Given the description of an element on the screen output the (x, y) to click on. 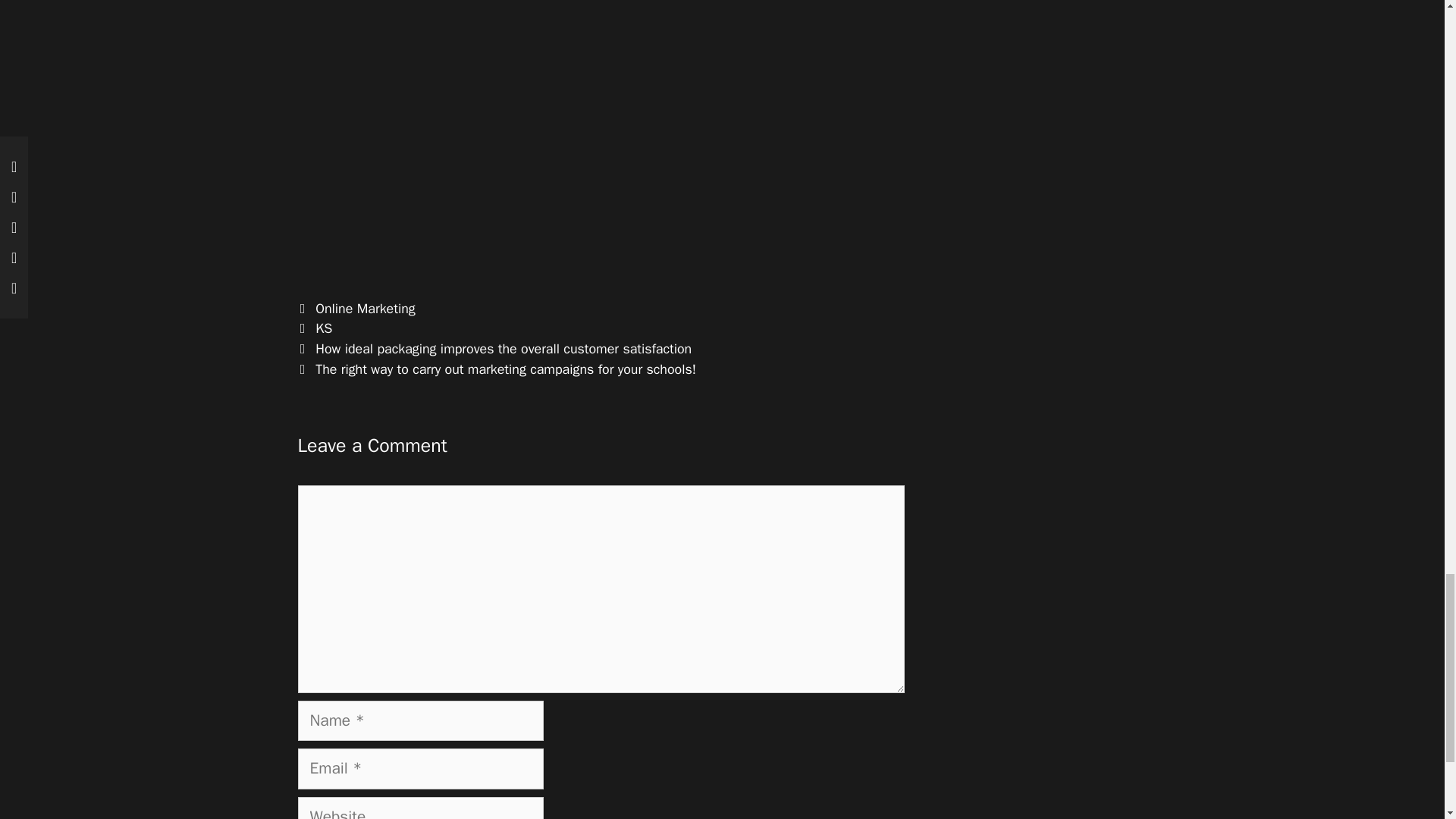
Previous (494, 348)
Next (496, 369)
Online Marketing (364, 308)
KS (323, 328)
